Given the description of an element on the screen output the (x, y) to click on. 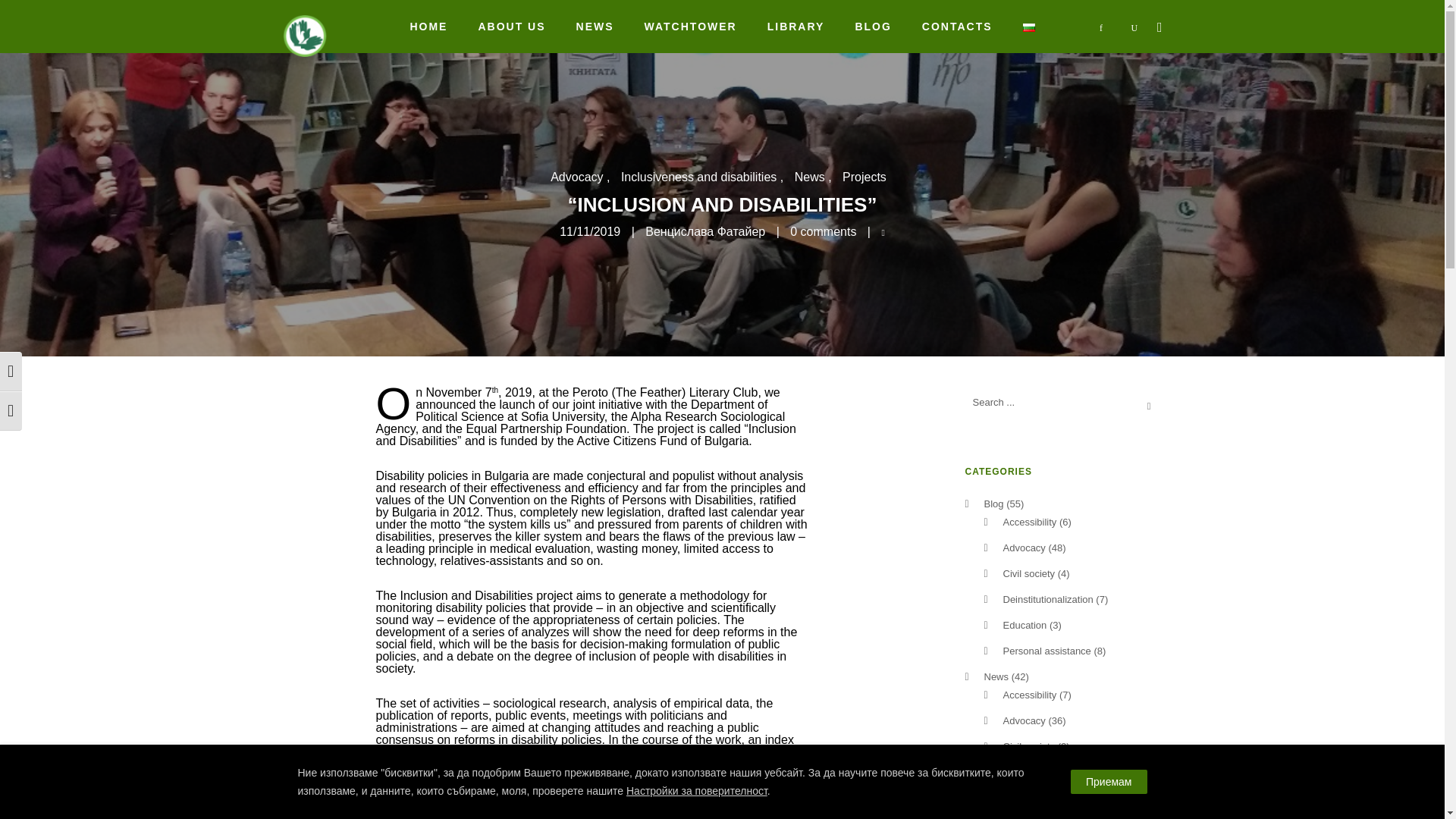
About Us (511, 26)
Home (428, 26)
BLOG (872, 26)
HOME (428, 26)
WATCHTOWER (690, 26)
NEWS (594, 26)
News (594, 26)
LIBRARY (796, 26)
ABOUT US (511, 26)
CONTACTS (957, 26)
